Given the description of an element on the screen output the (x, y) to click on. 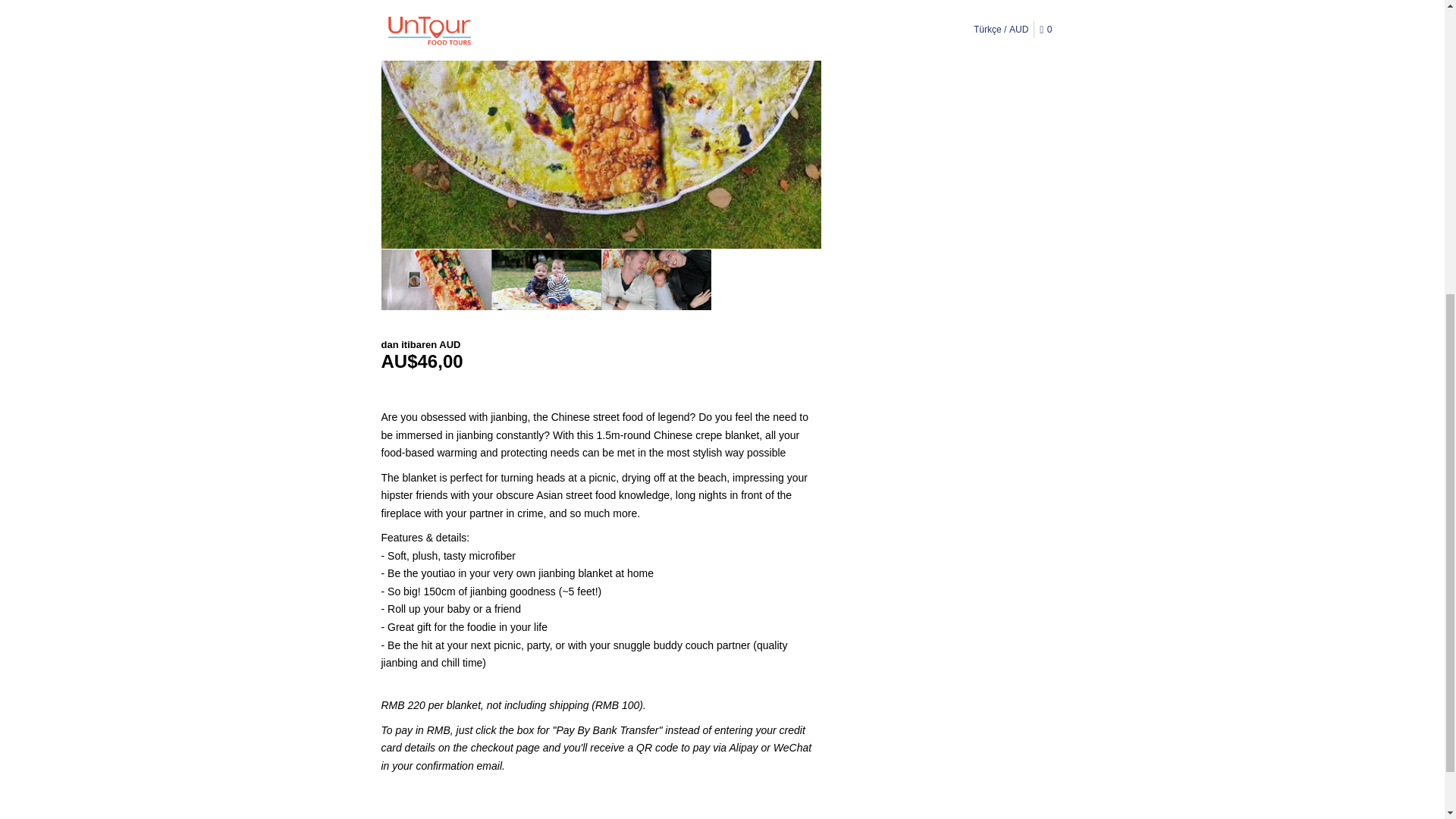
Estimated conversion from 31 (600, 361)
